Given the description of an element on the screen output the (x, y) to click on. 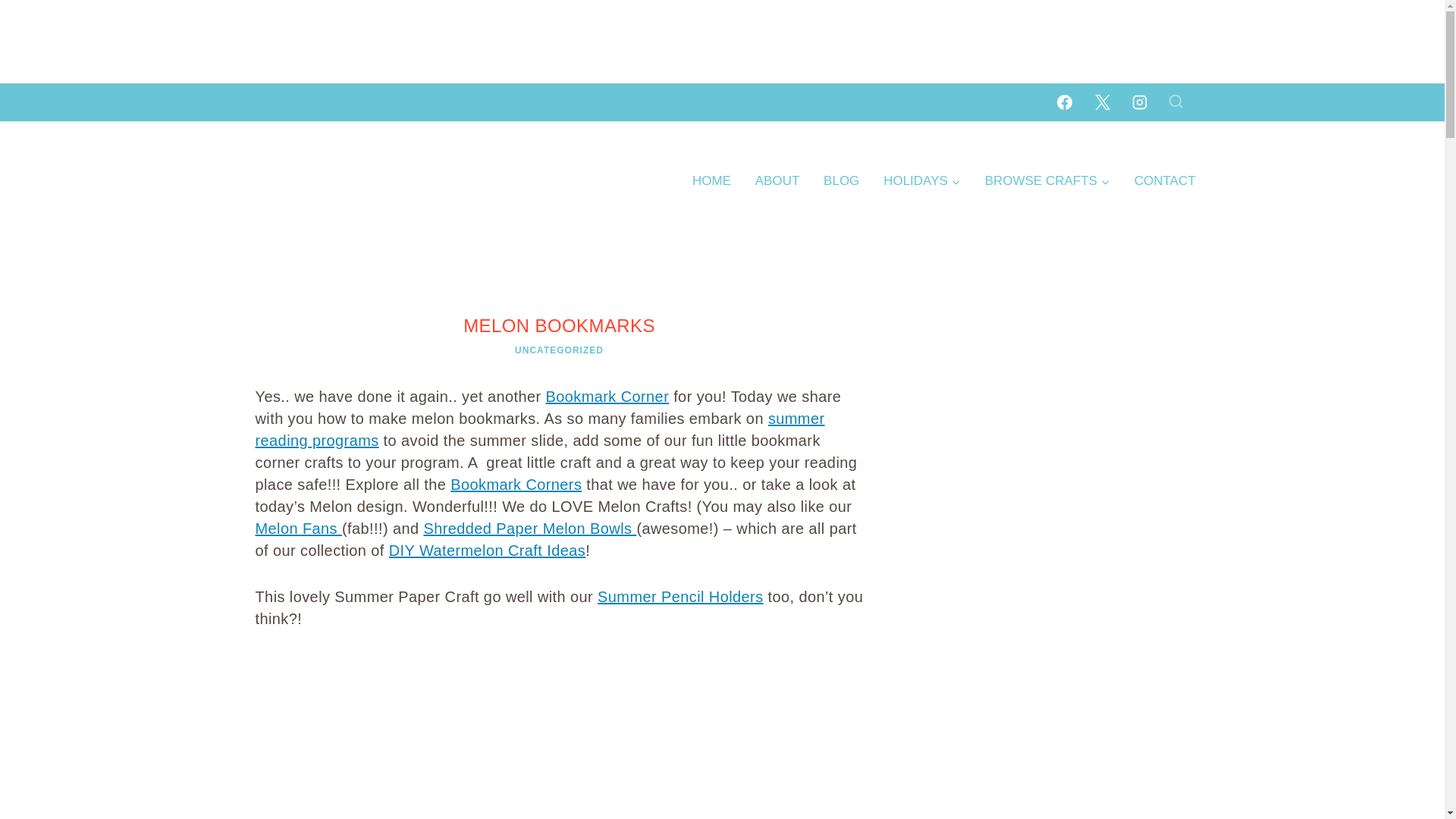
HOME (710, 180)
HOLIDAYS (921, 180)
CONTACT (1165, 180)
BROWSE CRAFTS (1047, 180)
ABOUT (776, 180)
BLOG (840, 180)
